Given the description of an element on the screen output the (x, y) to click on. 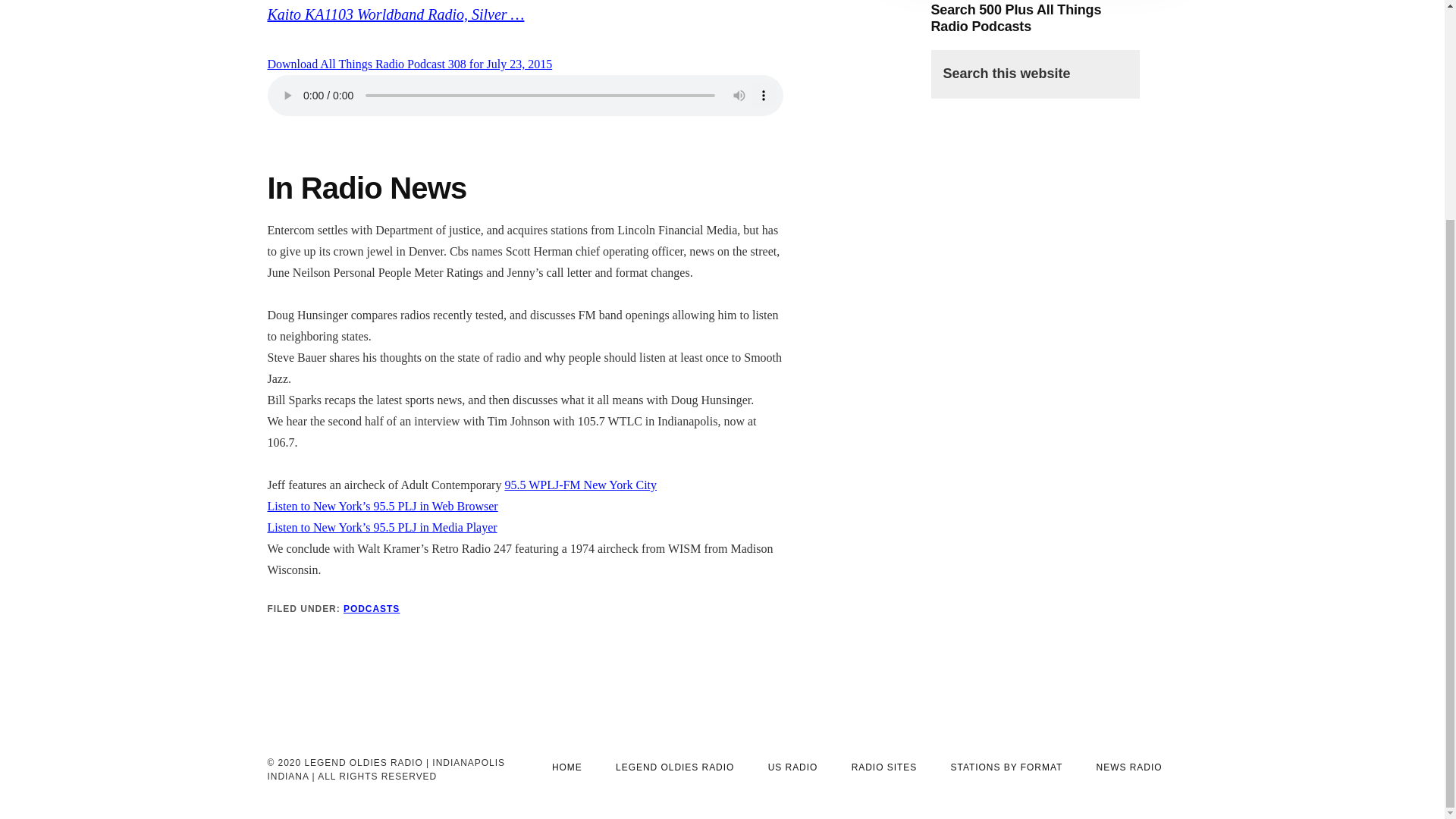
US RADIO (792, 767)
HOME (566, 767)
Download All Things Radio Podcast 308 for July 23, 2015 (408, 63)
PODCASTS (370, 608)
LEGEND OLDIES RADIO (674, 767)
STATIONS BY FORMAT (1007, 767)
NEWS RADIO (1129, 767)
RADIO SITES (884, 767)
95.5 WPLJ-FM New York City (579, 484)
